Given the description of an element on the screen output the (x, y) to click on. 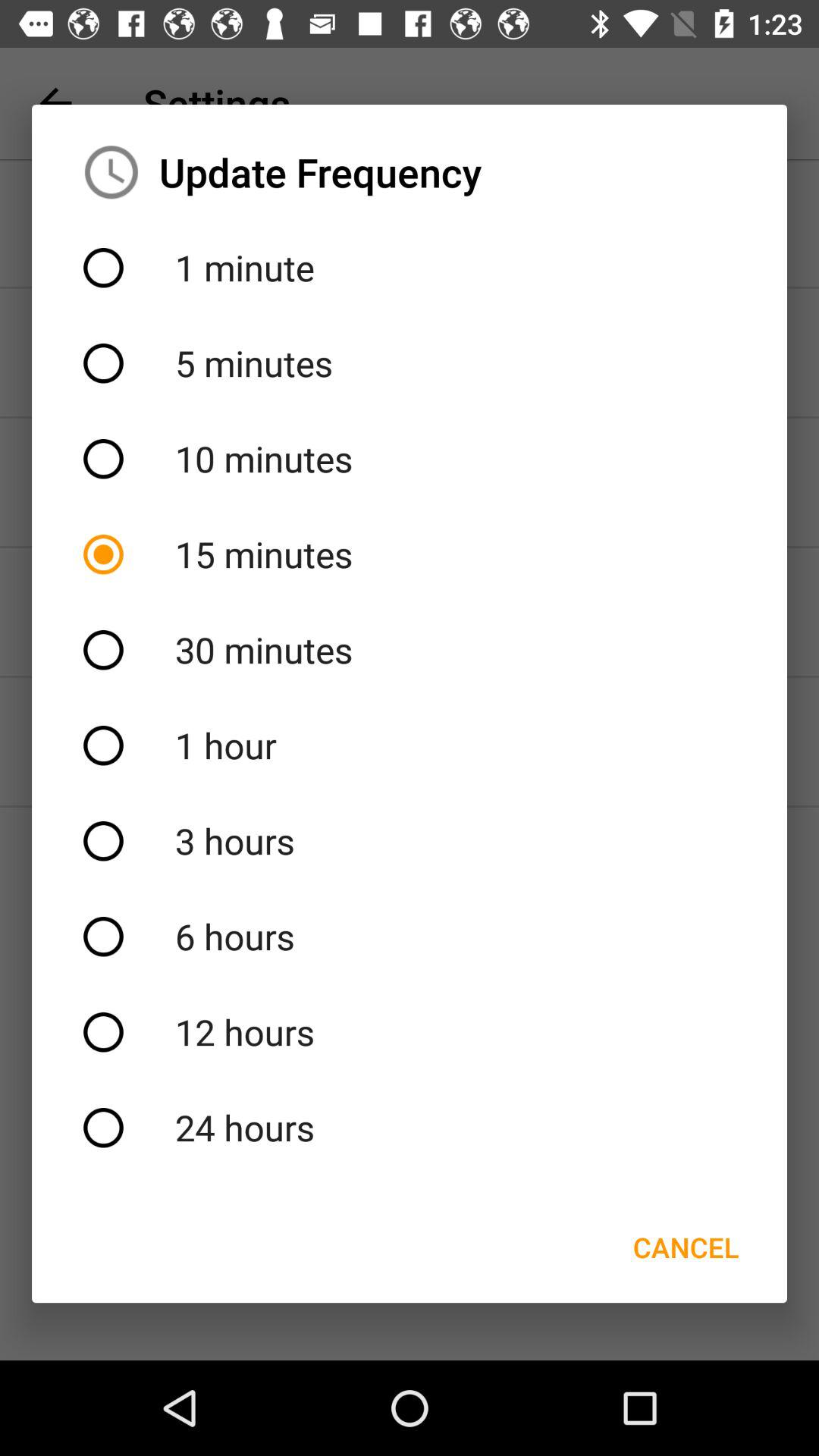
turn on 5 minutes item (409, 363)
